Given the description of an element on the screen output the (x, y) to click on. 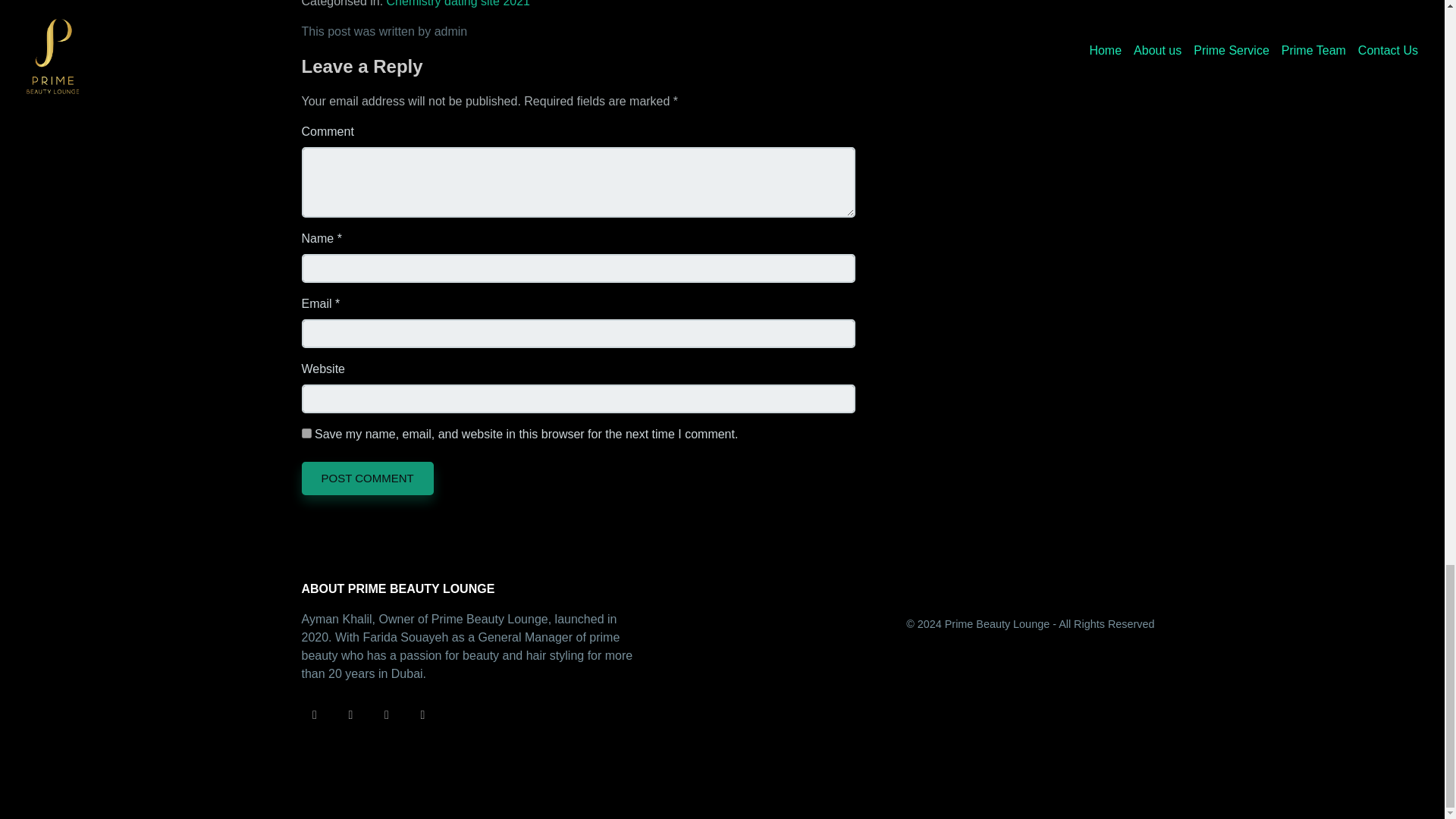
Post Comment (367, 478)
Post Comment (367, 478)
yes (306, 433)
Chemistry dating site 2021 (458, 3)
